Given the description of an element on the screen output the (x, y) to click on. 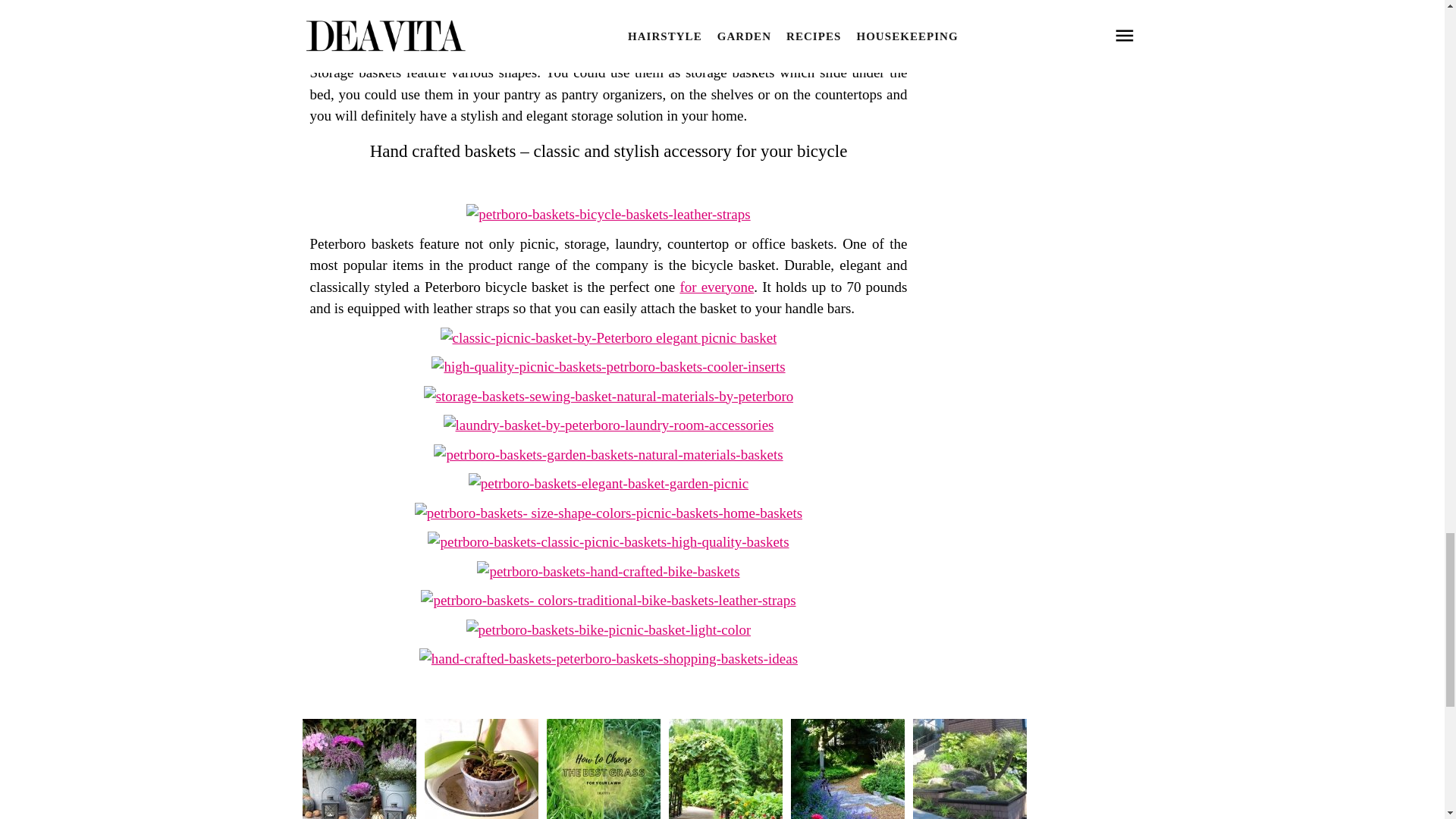
Classic-picnic-basket-by-Peterboro elegant picnic basket (609, 337)
Petrboro-baskets-bicycle-baskets-leather-straps (607, 213)
High-quality-picnic-baskets-petrboro-baskets-cooler-inserts (607, 366)
Step stool ideas for toddlers and adults (716, 286)
